Given the description of an element on the screen output the (x, y) to click on. 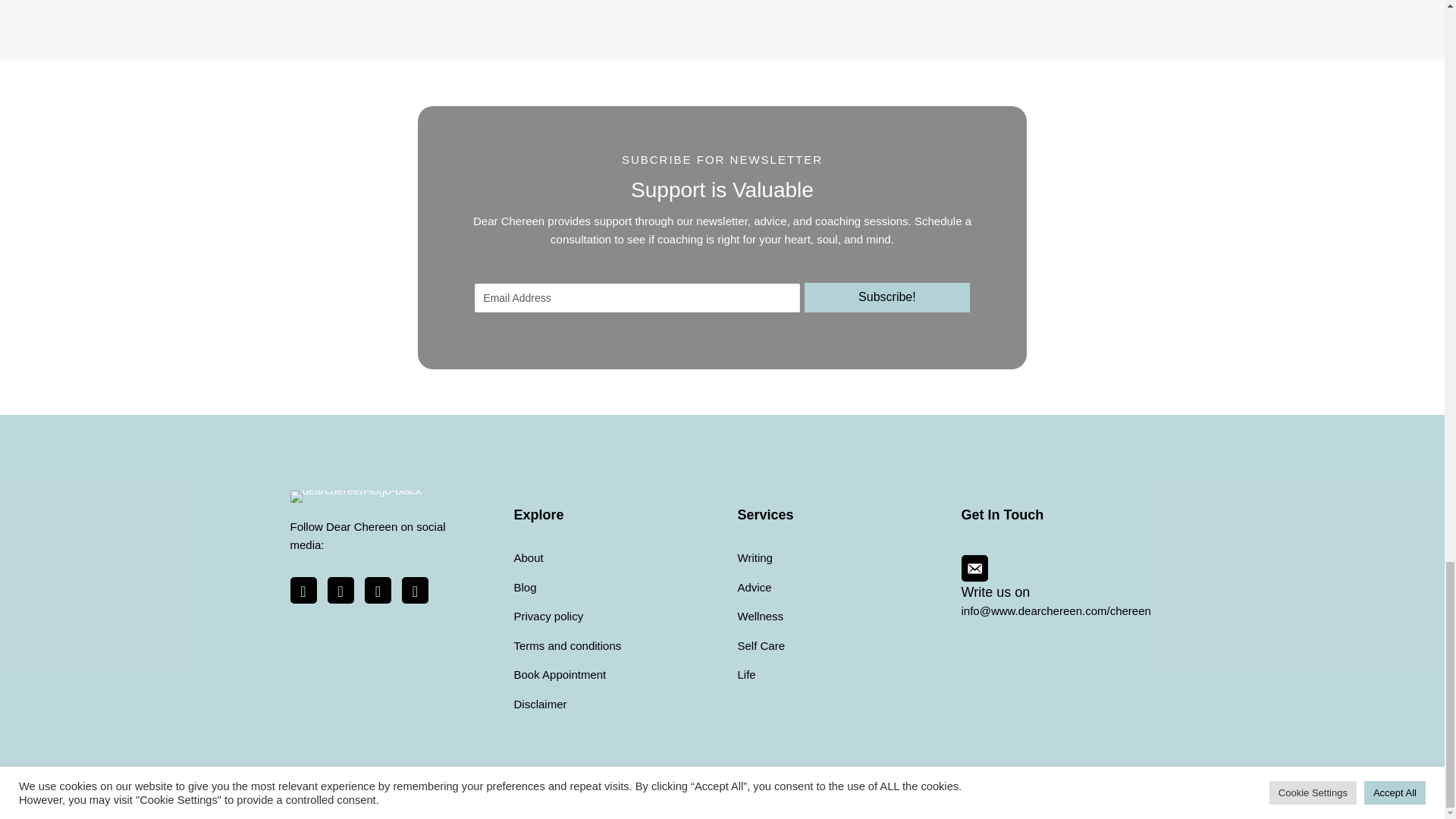
dearchereen-logo-black (355, 496)
